Given the description of an element on the screen output the (x, y) to click on. 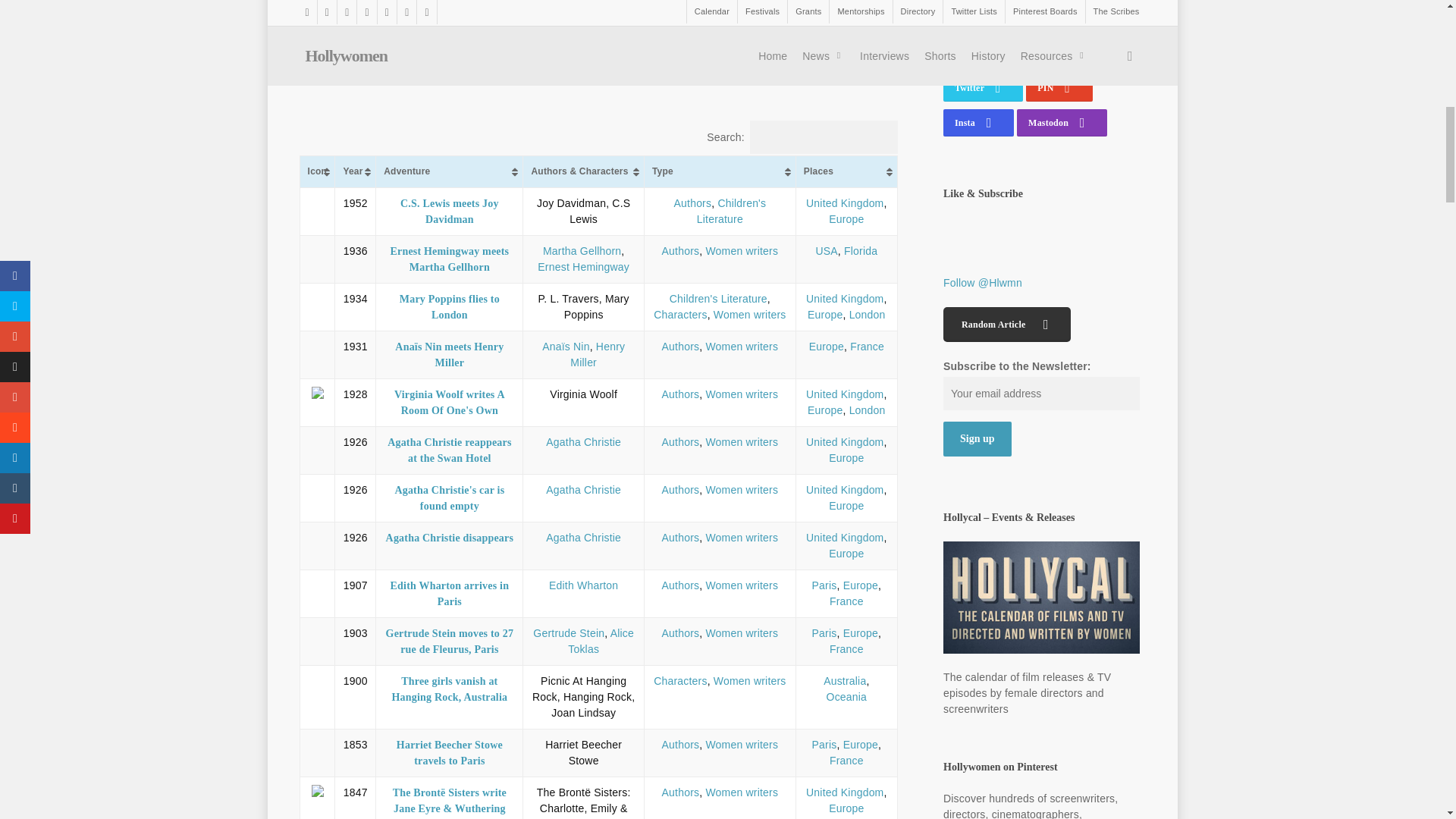
Sign up (977, 438)
